Given the description of an element on the screen output the (x, y) to click on. 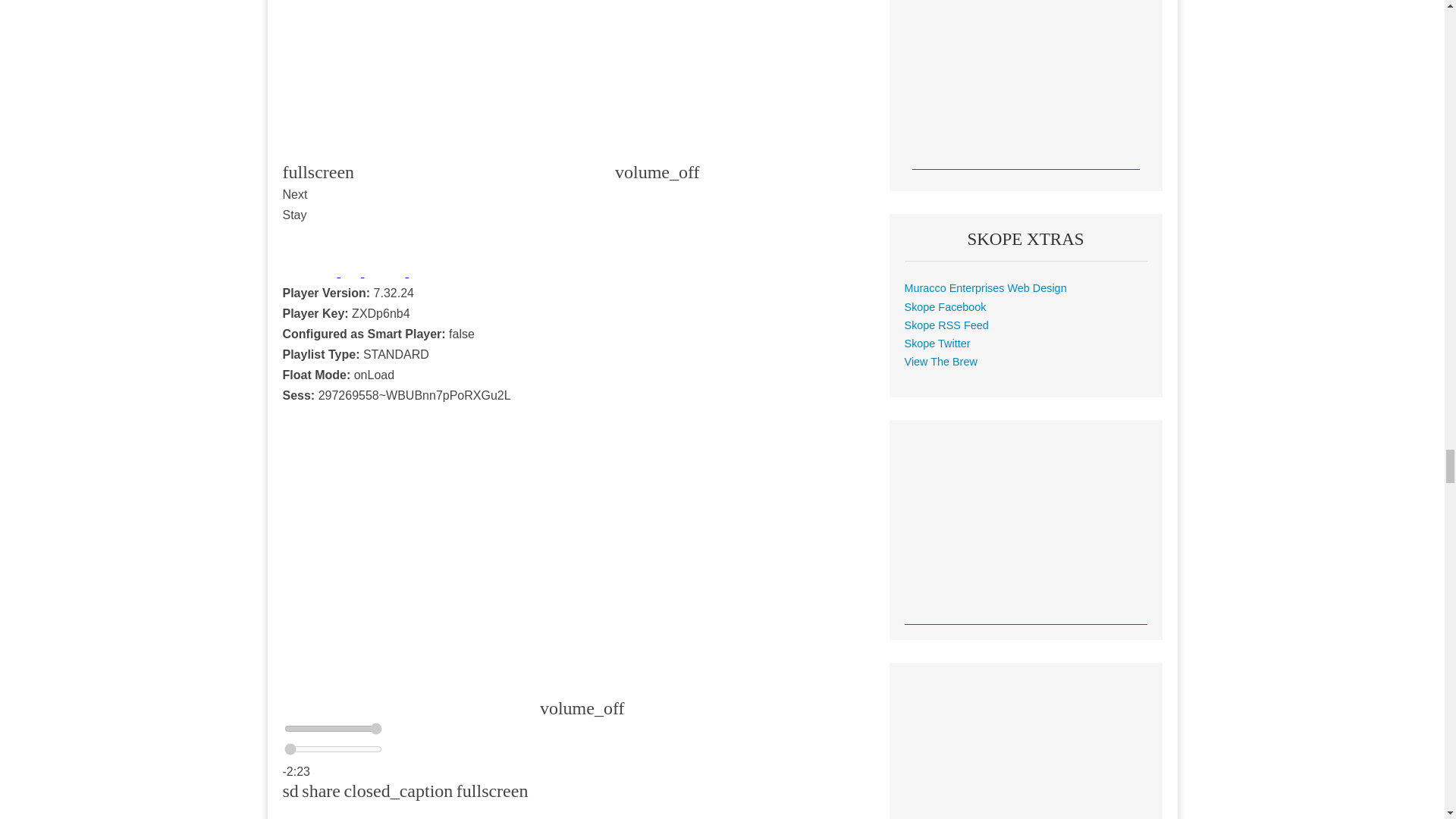
Skopemag.com RSS Feed (946, 325)
